Given the description of an element on the screen output the (x, y) to click on. 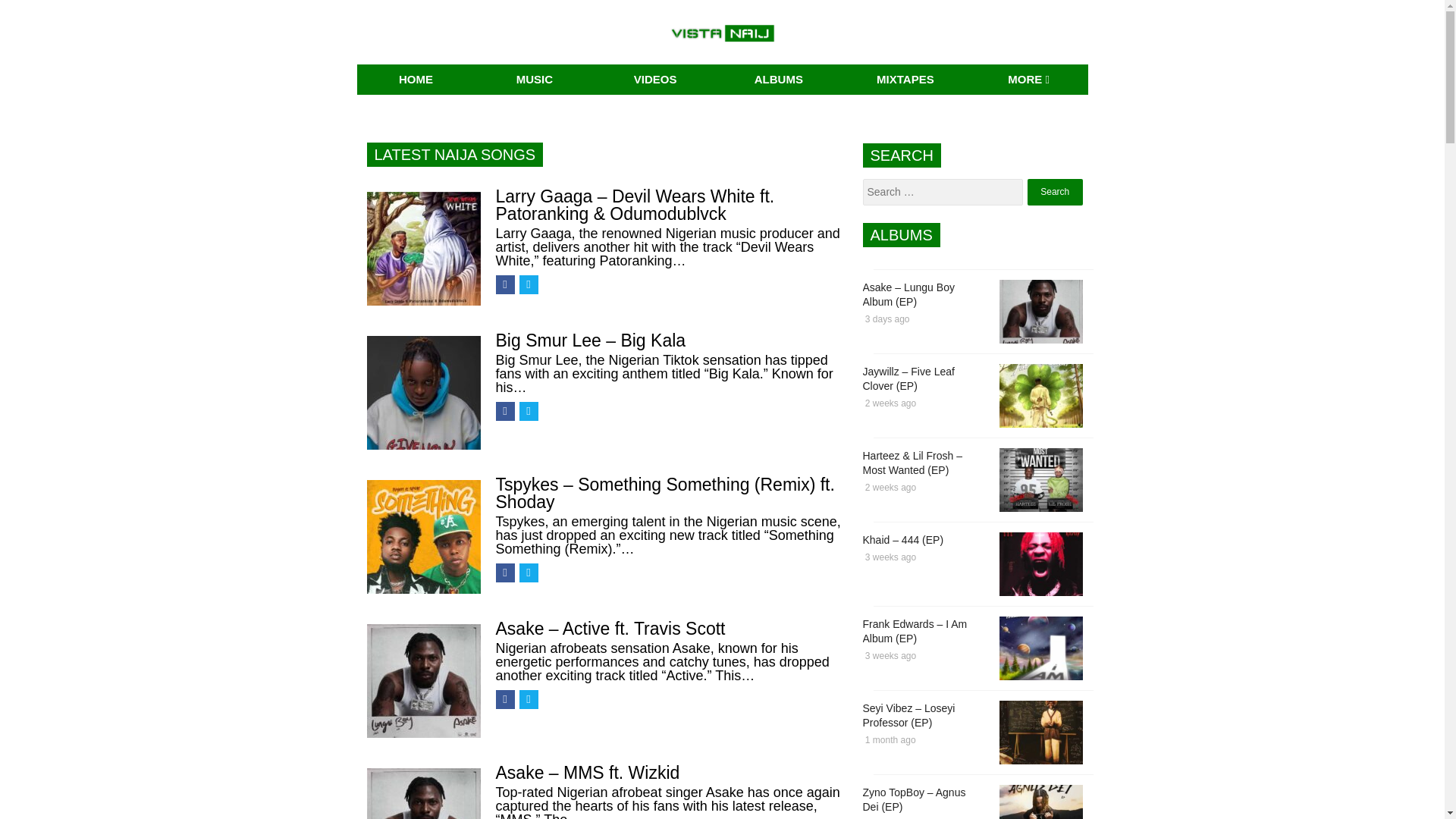
Albums (778, 79)
More (1028, 79)
MIXTAPES (905, 79)
Mixtapes (905, 79)
HOME (415, 79)
VIDEOS (655, 79)
Search (1055, 192)
ALBUMS (778, 79)
MORE (1028, 79)
Search (1055, 192)
